Given the description of an element on the screen output the (x, y) to click on. 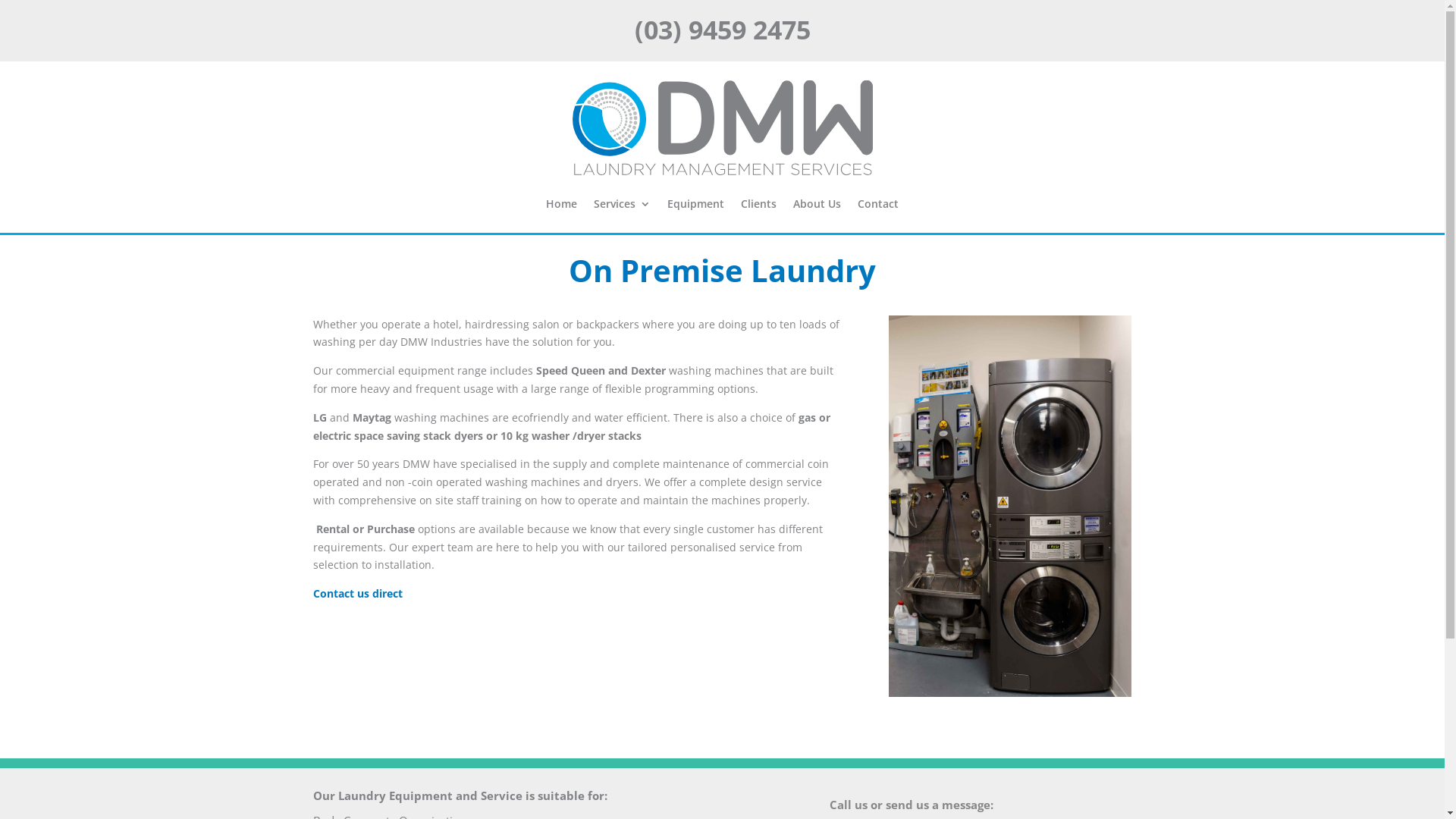
IMG_1133-HDR-Pano-Edit Element type: hover (1009, 505)
(03) 9459 2475 Element type: text (721, 29)
Services Element type: text (621, 203)
Equipment Element type: text (695, 203)
Contact Element type: text (877, 203)
Contact us direct Element type: text (356, 593)
Clients Element type: text (758, 203)
About Us Element type: text (816, 203)
Home Element type: text (561, 203)
